Given the description of an element on the screen output the (x, y) to click on. 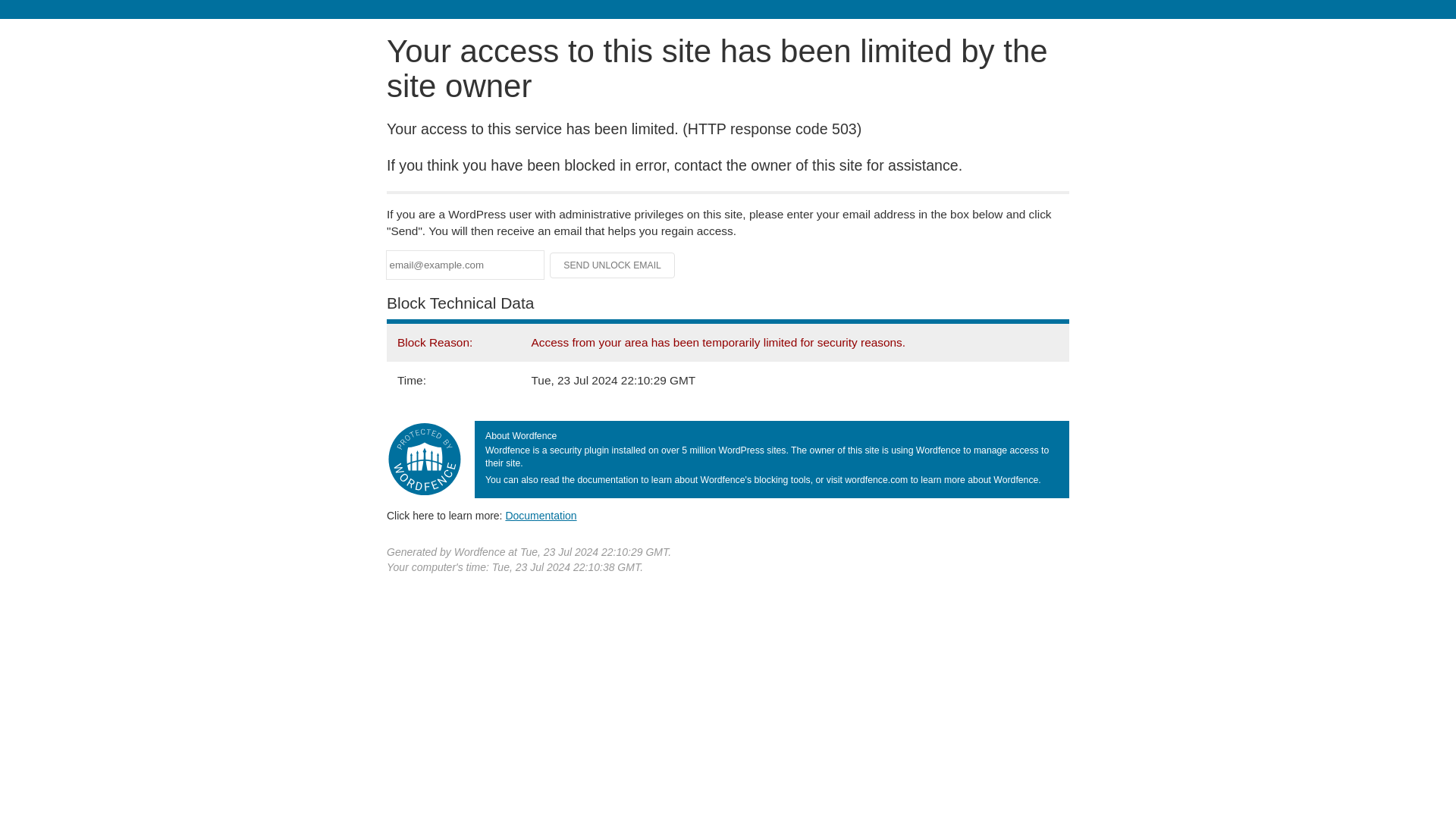
Send Unlock Email (612, 265)
Send Unlock Email (612, 265)
Documentation (540, 515)
